Given the description of an element on the screen output the (x, y) to click on. 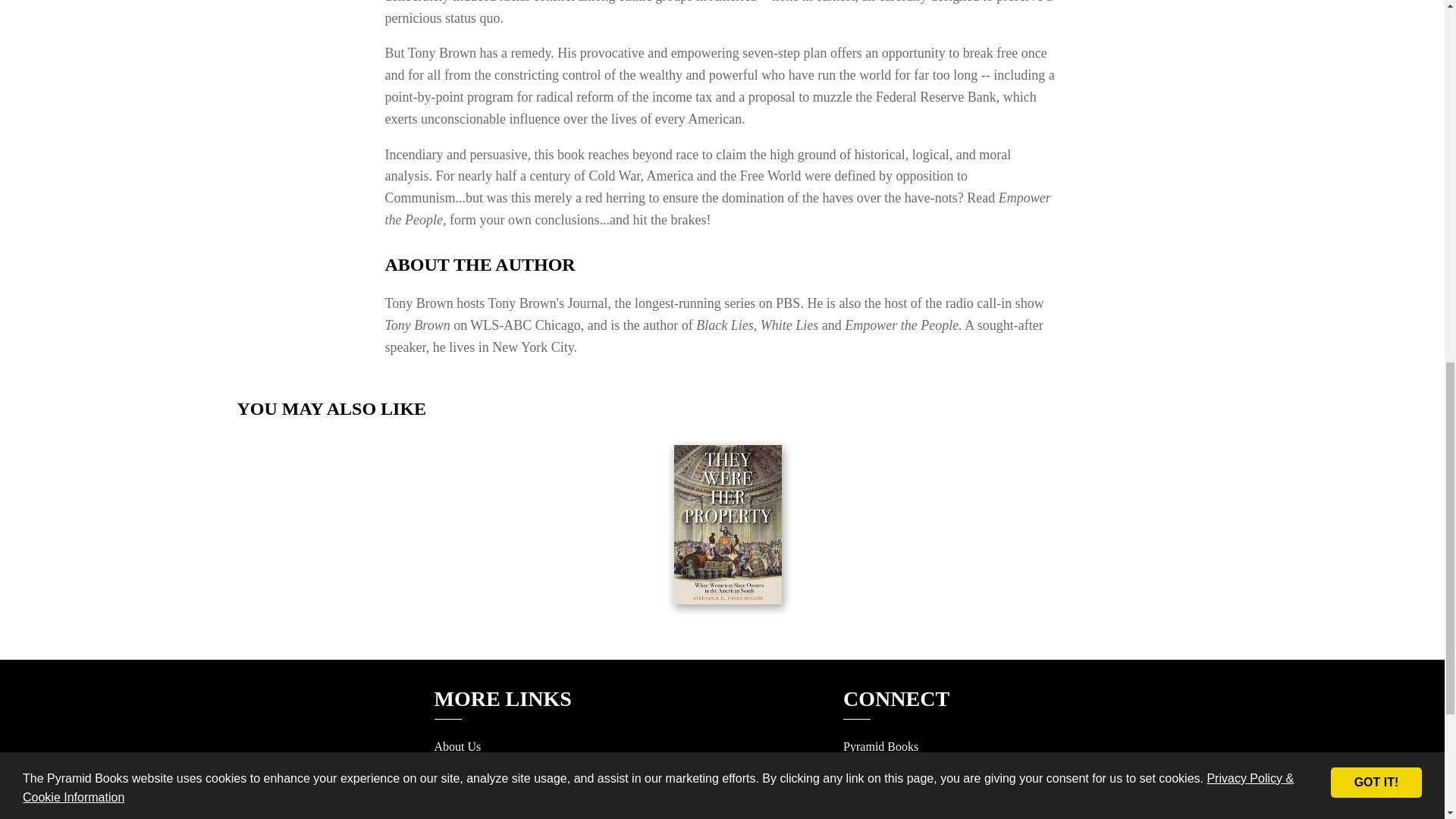
GOT IT! (1376, 50)
About Us (456, 746)
